Given the description of an element on the screen output the (x, y) to click on. 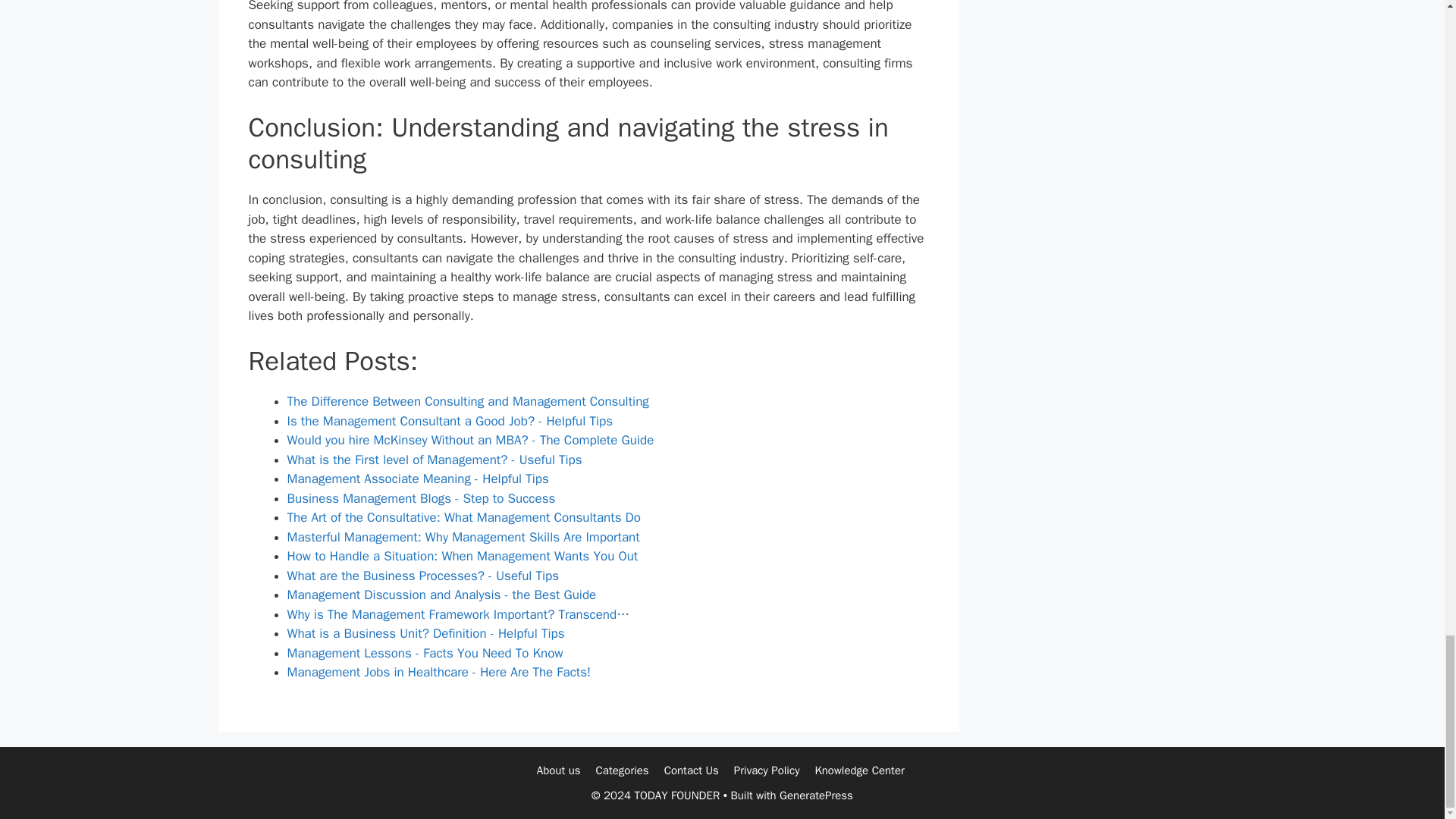
Categories (622, 770)
Management Associate Meaning - Helpful Tips (417, 478)
What is a Business Unit? Definition - Helpful Tips (425, 633)
How to Handle a Situation: When Management Wants You Out (461, 555)
Business Management Blogs - Step to Success (420, 498)
Masterful Management: Why Management Skills Are Important (462, 537)
Is the Management Consultant a Good Job? - Helpful Tips (448, 421)
Management Jobs in Healthcare - Here Are The Facts! (438, 672)
The Art of the Consultative: What Management Consultants Do (463, 517)
Management Discussion and Analysis - the Best Guide (440, 594)
What are the Business Processes? - Useful Tips (422, 575)
Would you hire McKinsey Without an MBA? - The Complete Guide (469, 439)
Management Lessons - Facts You Need To Know (424, 652)
What is the First level of Management? - Useful Tips (433, 459)
About us (558, 770)
